Given the description of an element on the screen output the (x, y) to click on. 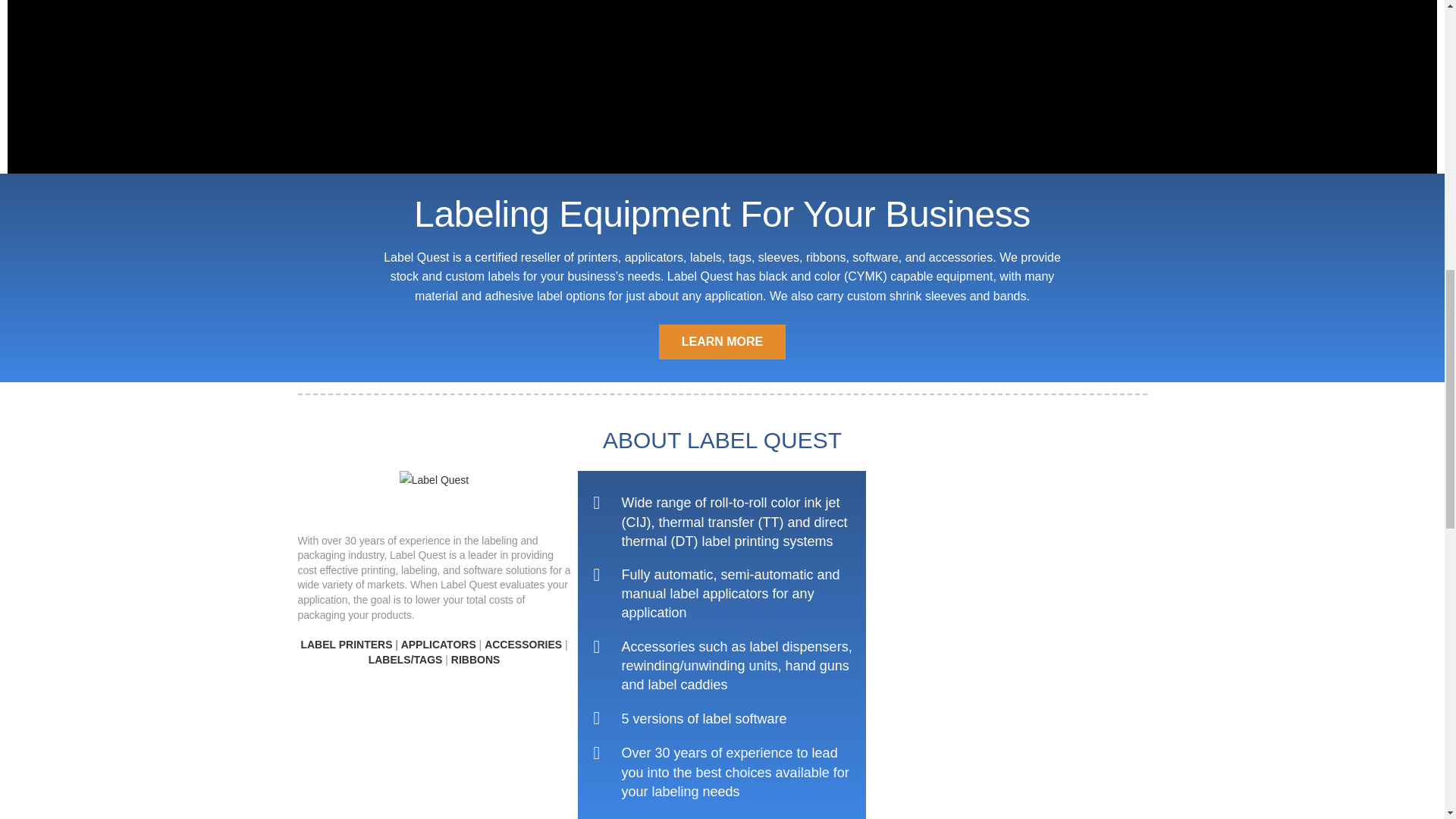
LEARN MORE (722, 341)
RIBBONS (475, 659)
APPLICATORS (438, 644)
LABEL PRINTERS (345, 644)
ACCESSORIES (523, 644)
